Given the description of an element on the screen output the (x, y) to click on. 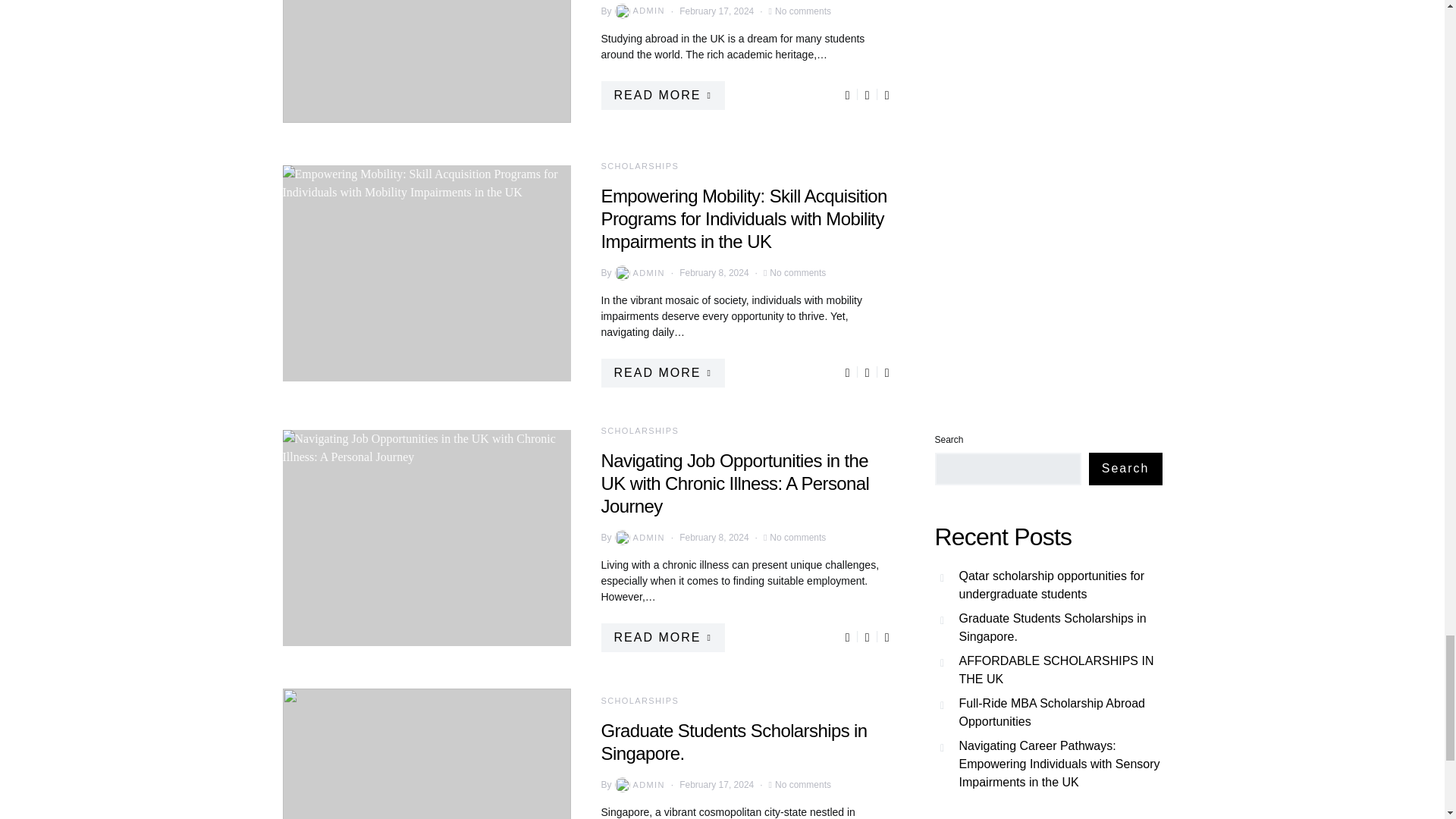
View all posts by Admin (638, 272)
View all posts by Admin (638, 784)
View all posts by Admin (638, 537)
View all posts by Admin (638, 10)
